Given the description of an element on the screen output the (x, y) to click on. 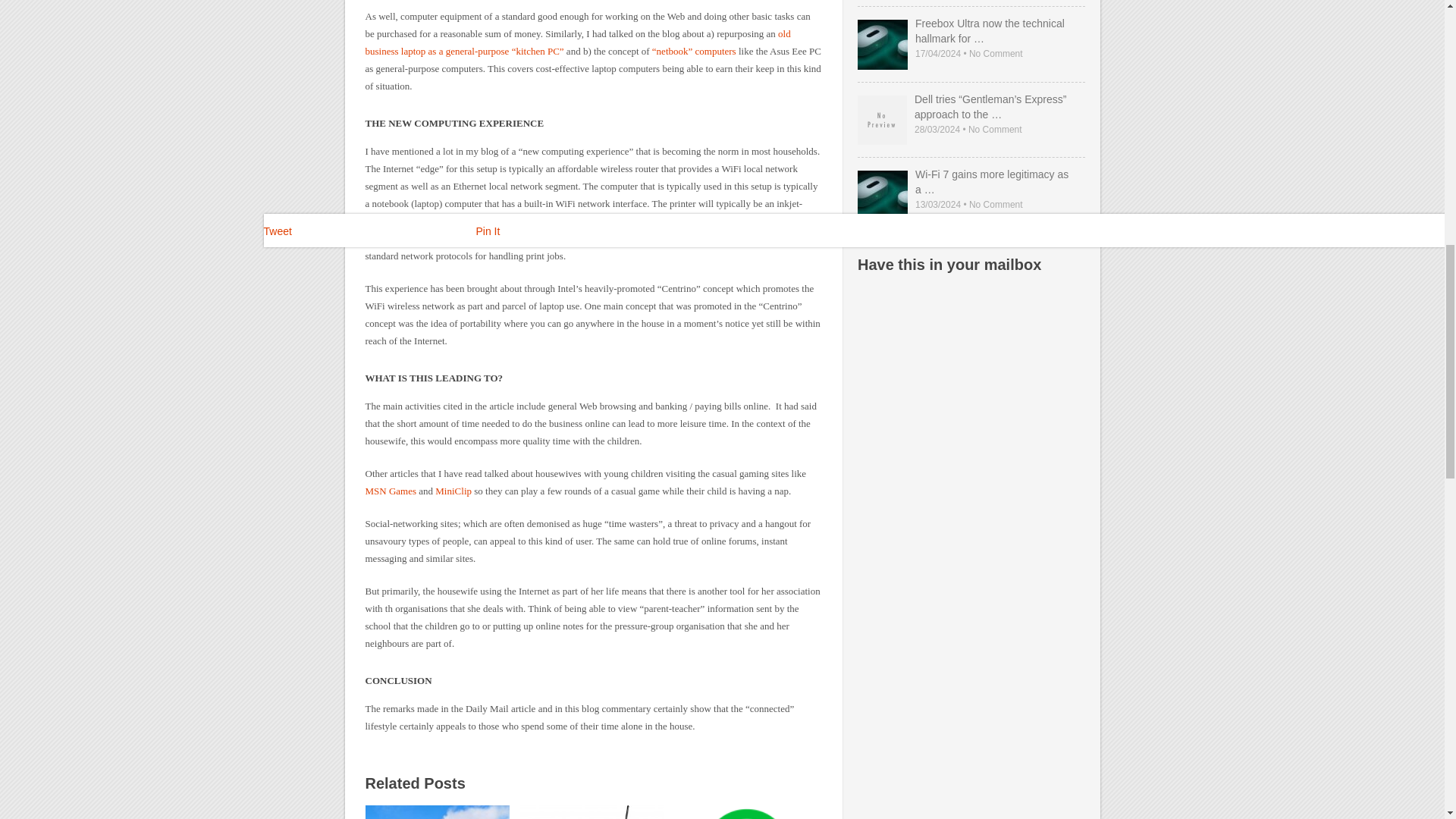
ARCEP is heading towards an IPv6 France (746, 812)
Wired broadband for the mobile-only household (591, 812)
ARCEP is heading towards an IPv6 France (746, 812)
Wired broadband for the mobile-only household (591, 812)
